Given the description of an element on the screen output the (x, y) to click on. 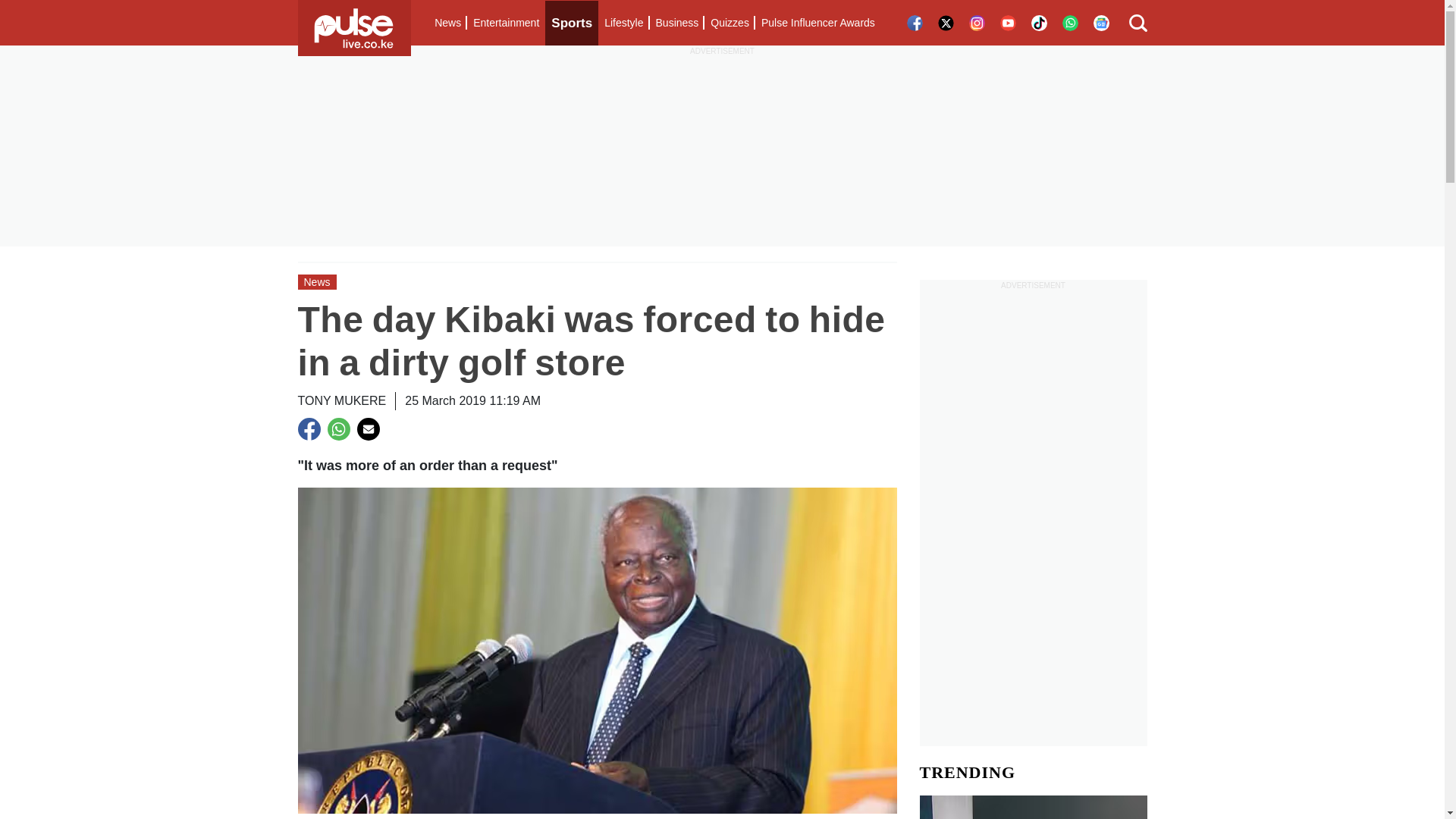
Pulse Influencer Awards (817, 22)
Lifestyle (623, 22)
Business (676, 22)
Quizzes (729, 22)
Entertainment (505, 22)
Sports (571, 22)
